Given the description of an element on the screen output the (x, y) to click on. 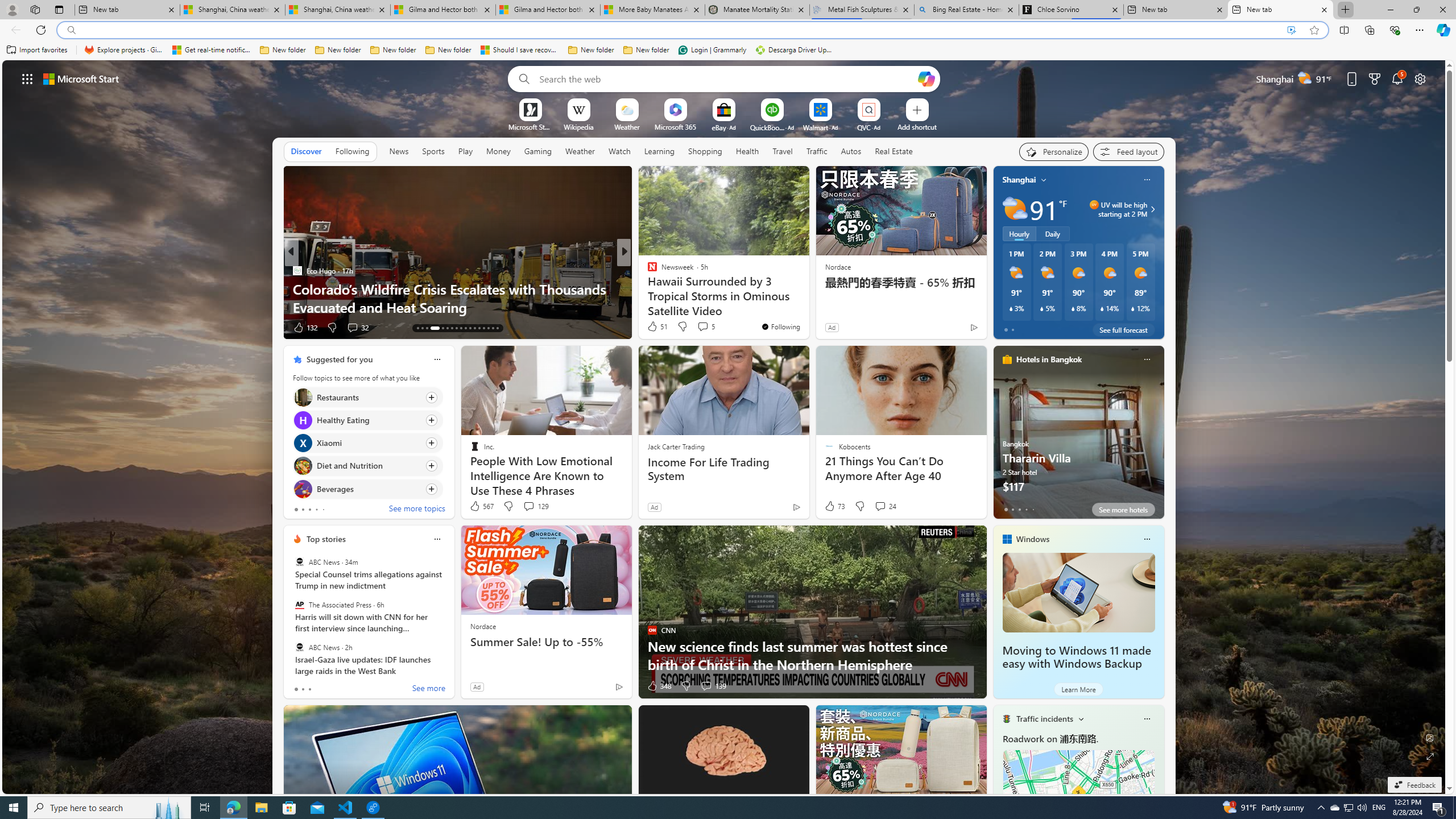
Class: icon-img (1146, 718)
Learning (659, 151)
Restaurants (302, 397)
Solve All Your Travel Needs with Just One Backpack (807, 307)
AutomationID: backgroundImagePicture (723, 426)
New folder (646, 49)
View comments 32 Comment (6, 327)
You're following The Weather Channel (949, 329)
Viral Tech (647, 288)
76 Like (652, 327)
Edit Background (1430, 737)
Should I save recovered Word documents? - Microsoft Support (519, 49)
Search icon (70, 29)
